Given the description of an element on the screen output the (x, y) to click on. 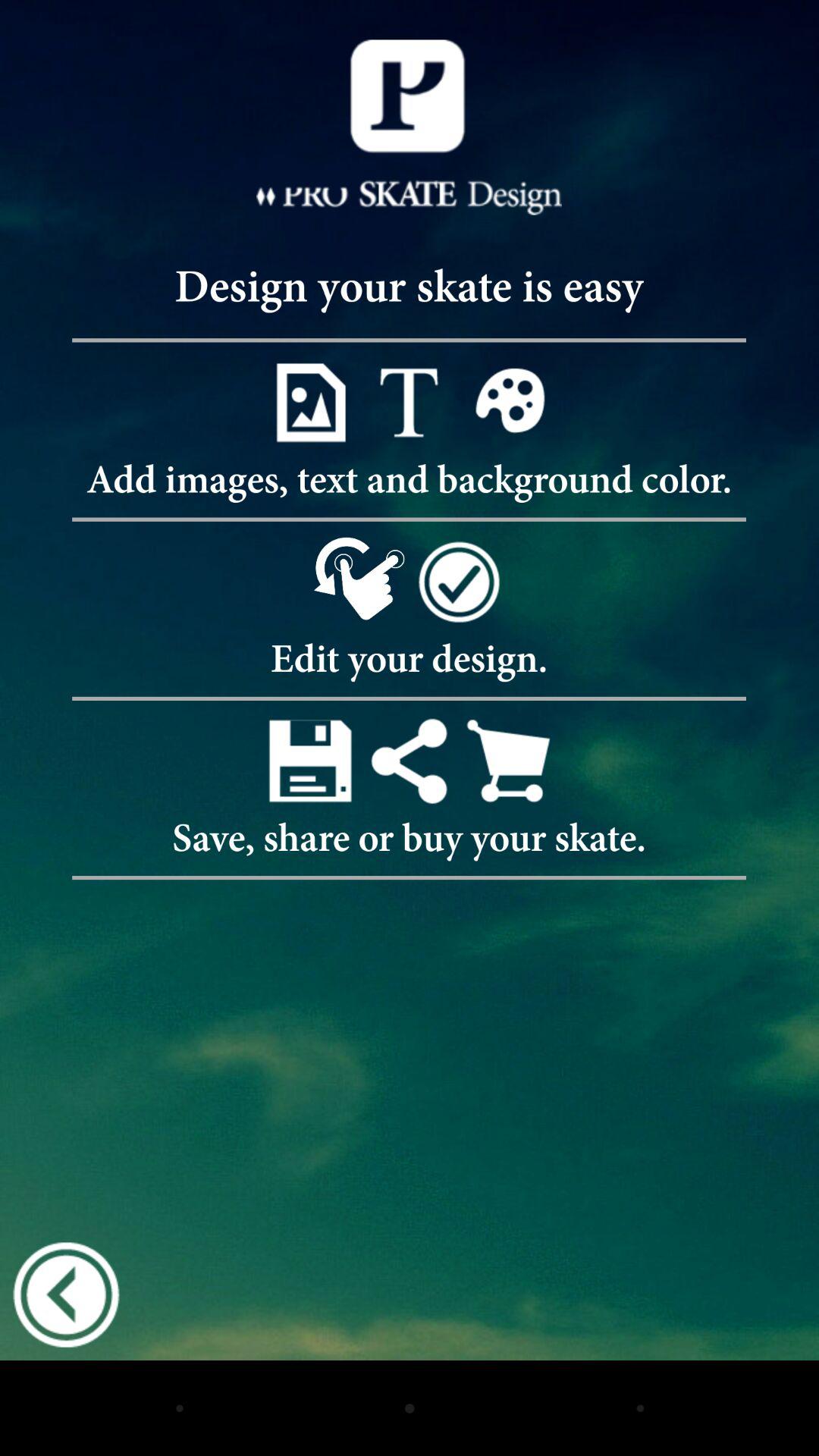
save created drawing (309, 760)
